Given the description of an element on the screen output the (x, y) to click on. 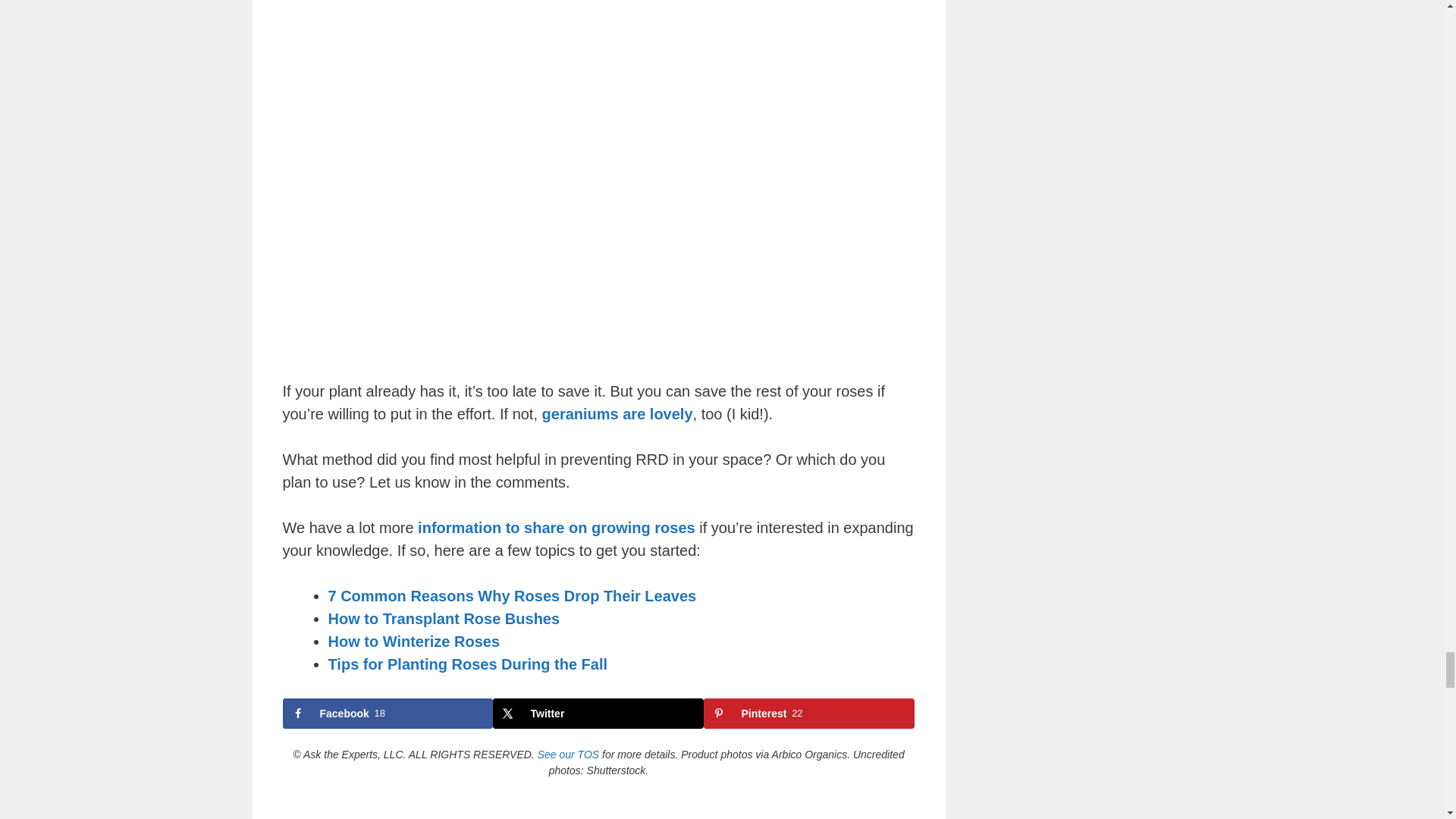
Save to Pinterest (808, 713)
Share on Facebook (387, 713)
Share on X (598, 713)
